Given the description of an element on the screen output the (x, y) to click on. 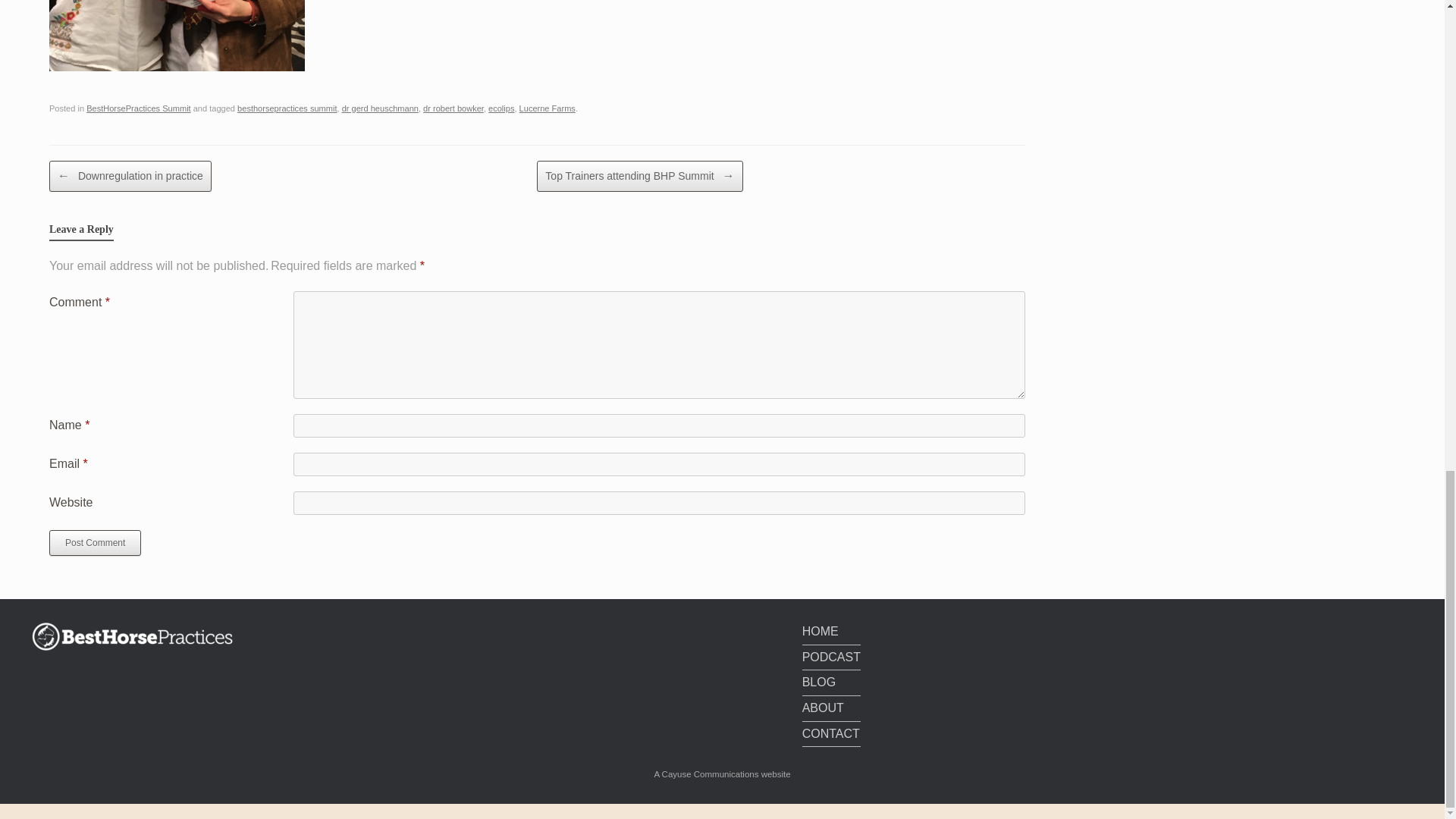
besthorsepractices summit (286, 108)
BestHorsePractices Summit (137, 108)
Lucerne Farms (547, 108)
dr robert bowker (453, 108)
Post Comment (95, 542)
dr gerd heuschmann (380, 108)
Post Comment (95, 542)
ecolips (500, 108)
